Given the description of an element on the screen output the (x, y) to click on. 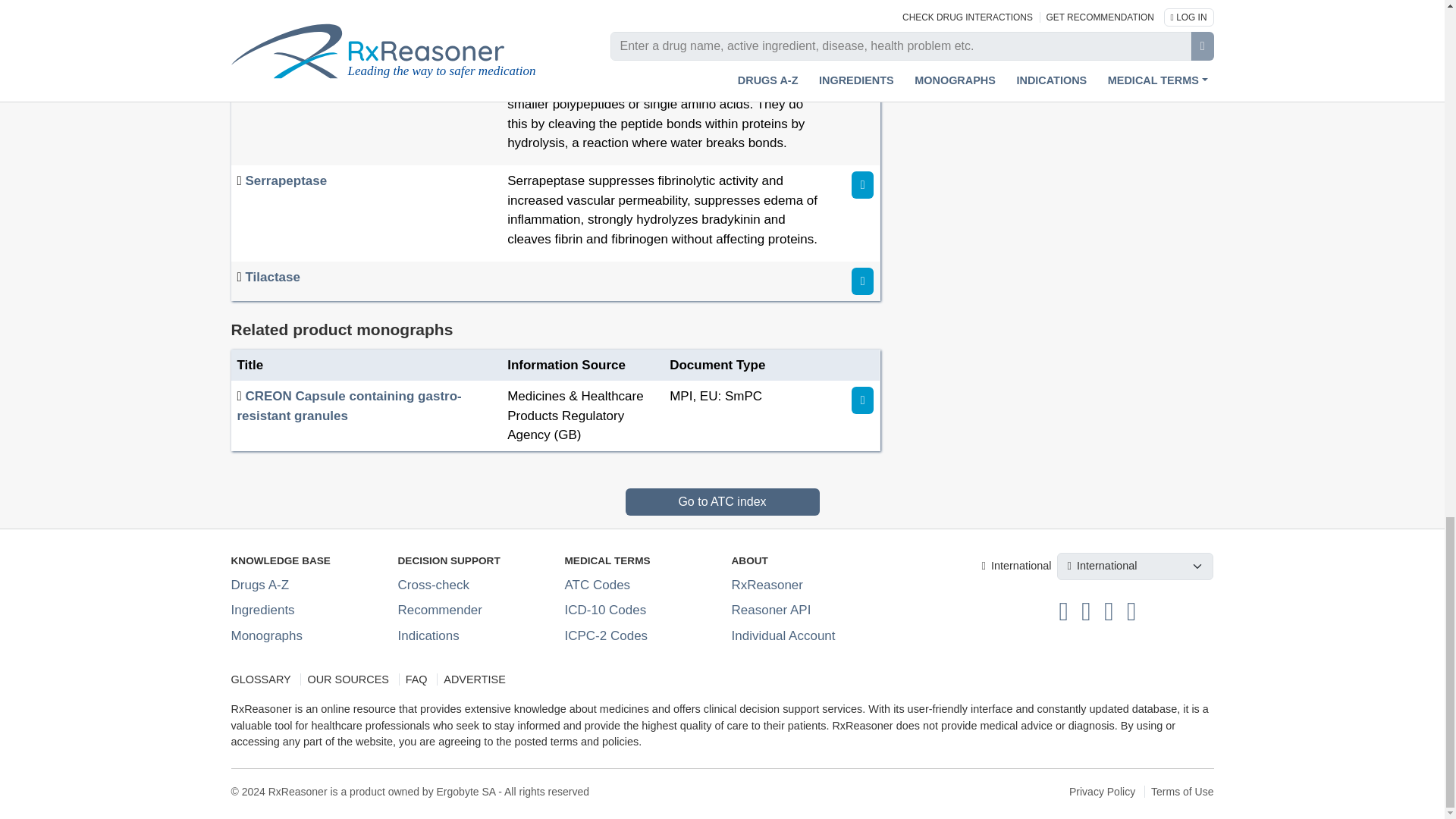
Tilactase (271, 277)
Protease (271, 65)
Serrapeptase (285, 180)
